Given the description of an element on the screen output the (x, y) to click on. 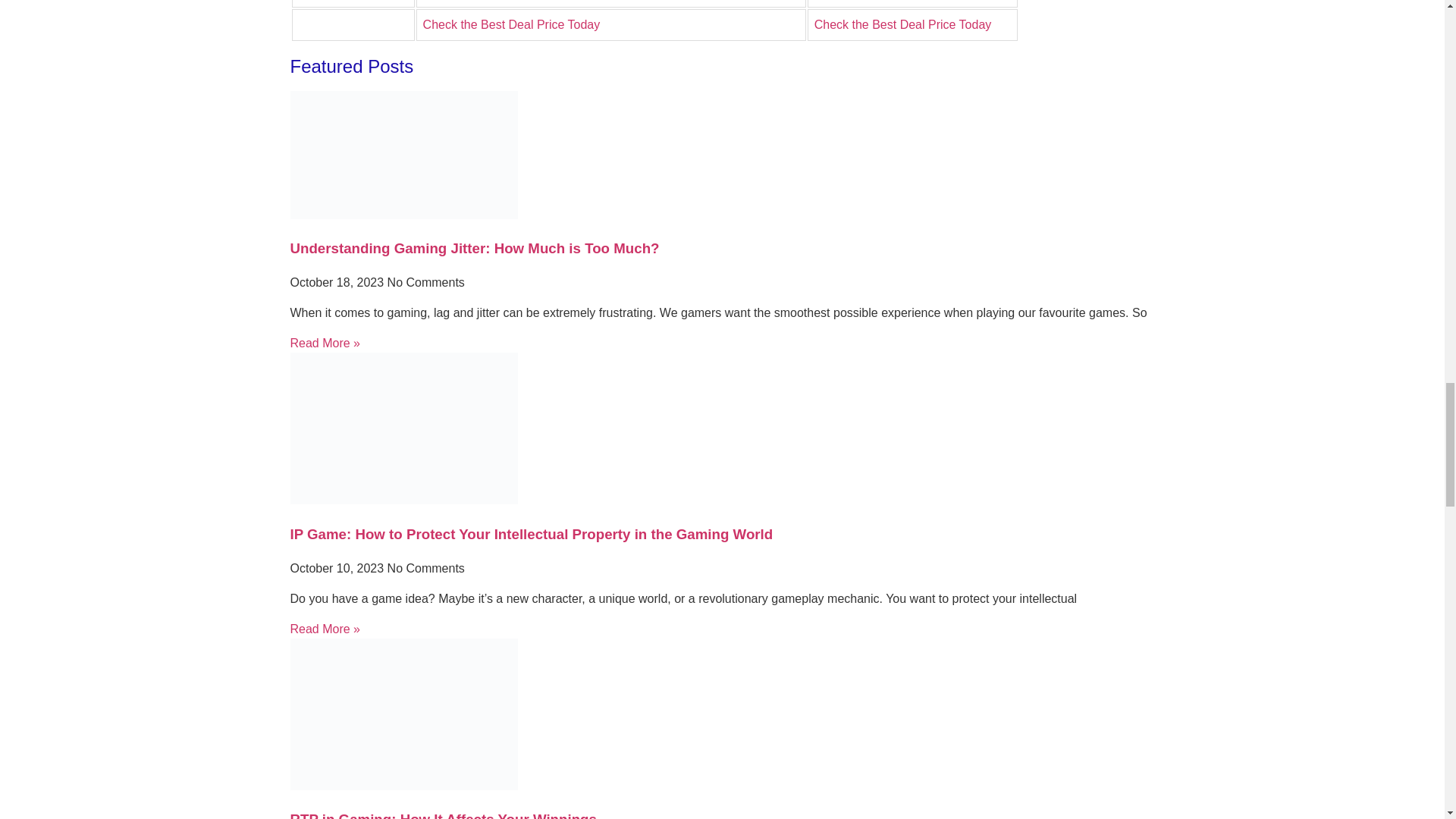
Check the Best Deal Price Today (511, 24)
Check the Best Deal Price Today (902, 24)
RTP in Gaming: How It Affects Your Winnings (442, 815)
Understanding Gaming Jitter: How Much is Too Much? (474, 248)
